Given the description of an element on the screen output the (x, y) to click on. 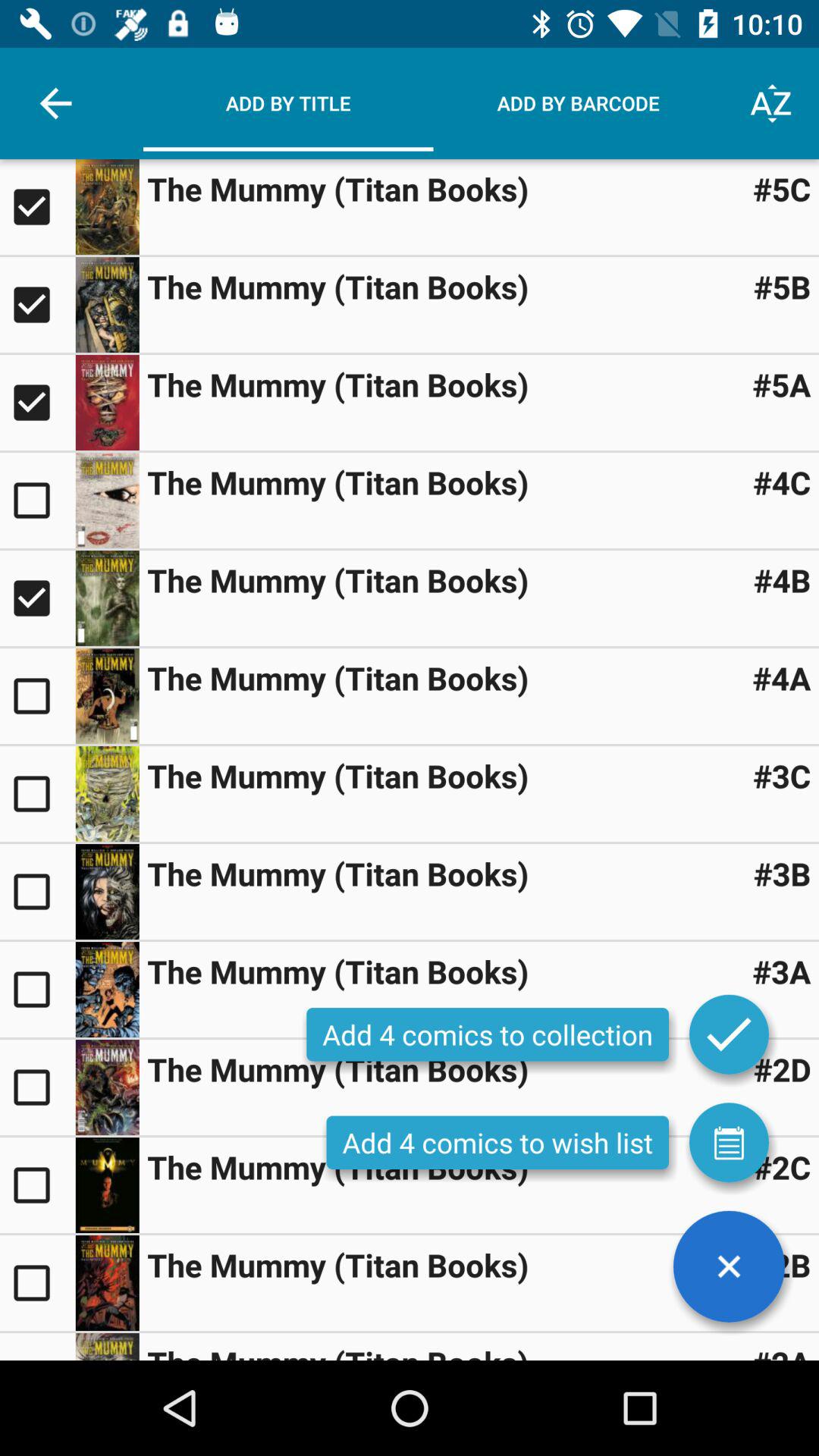
go to comic info (107, 1282)
